Given the description of an element on the screen output the (x, y) to click on. 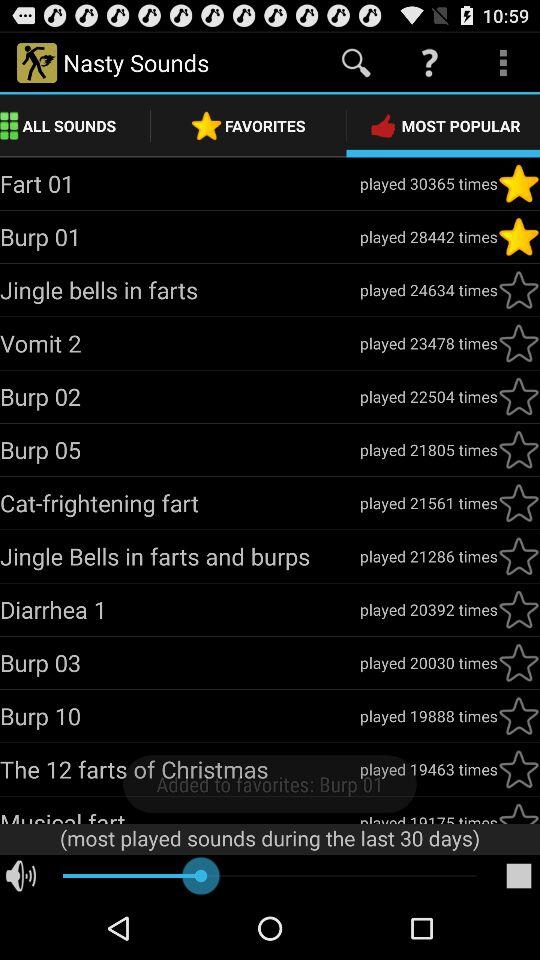
select favorite (519, 183)
